Given the description of an element on the screen output the (x, y) to click on. 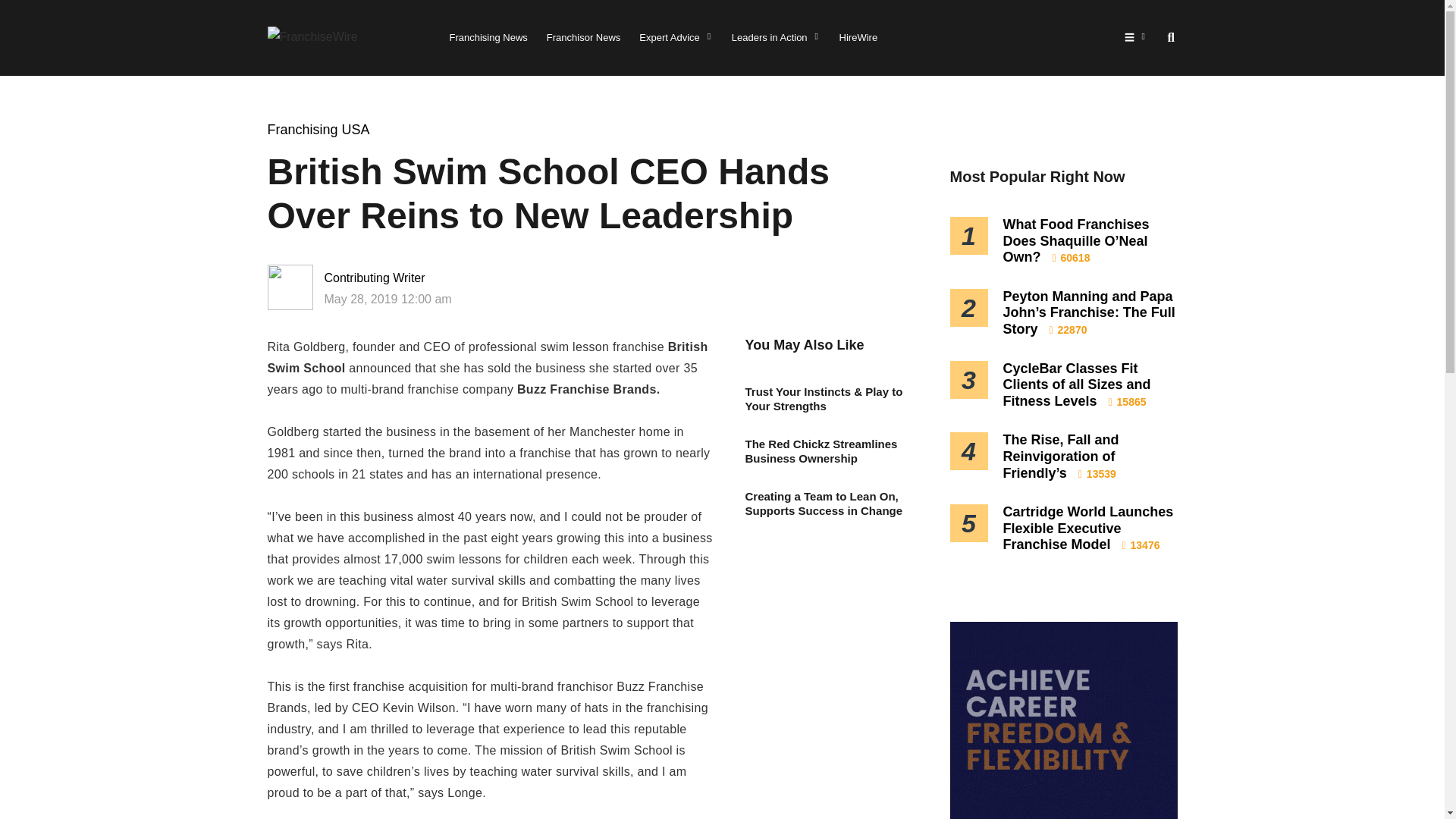
Franchising USA (317, 129)
Franchisor News (584, 38)
Views (1071, 257)
Views (1127, 401)
Contributing Writer (422, 278)
Leaders in Action (776, 38)
View all posts by Contributing Writer (422, 278)
British Swim School (486, 357)
Franchising News (487, 38)
